Given the description of an element on the screen output the (x, y) to click on. 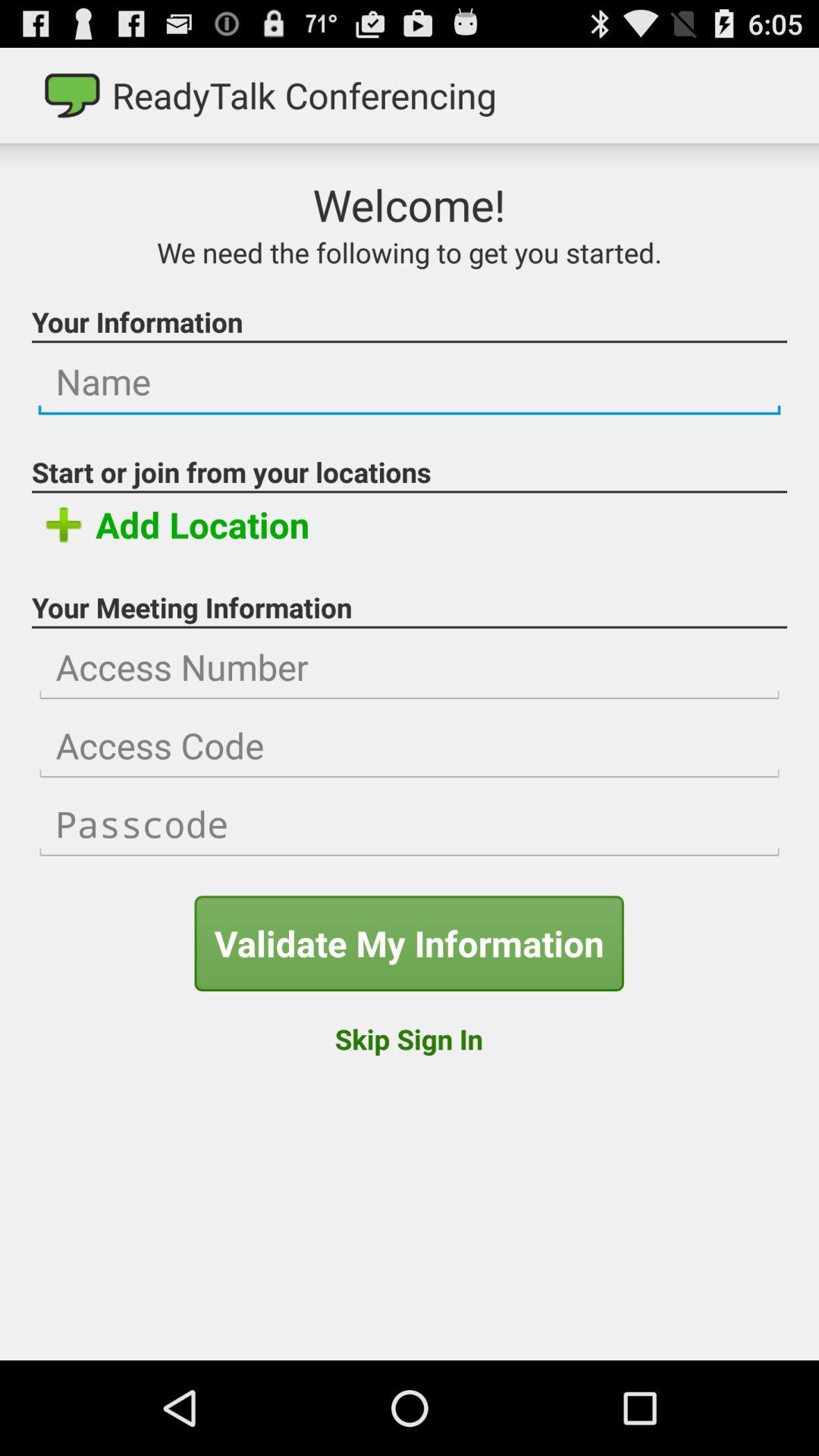
select the item above skip sign in (408, 943)
